Given the description of an element on the screen output the (x, y) to click on. 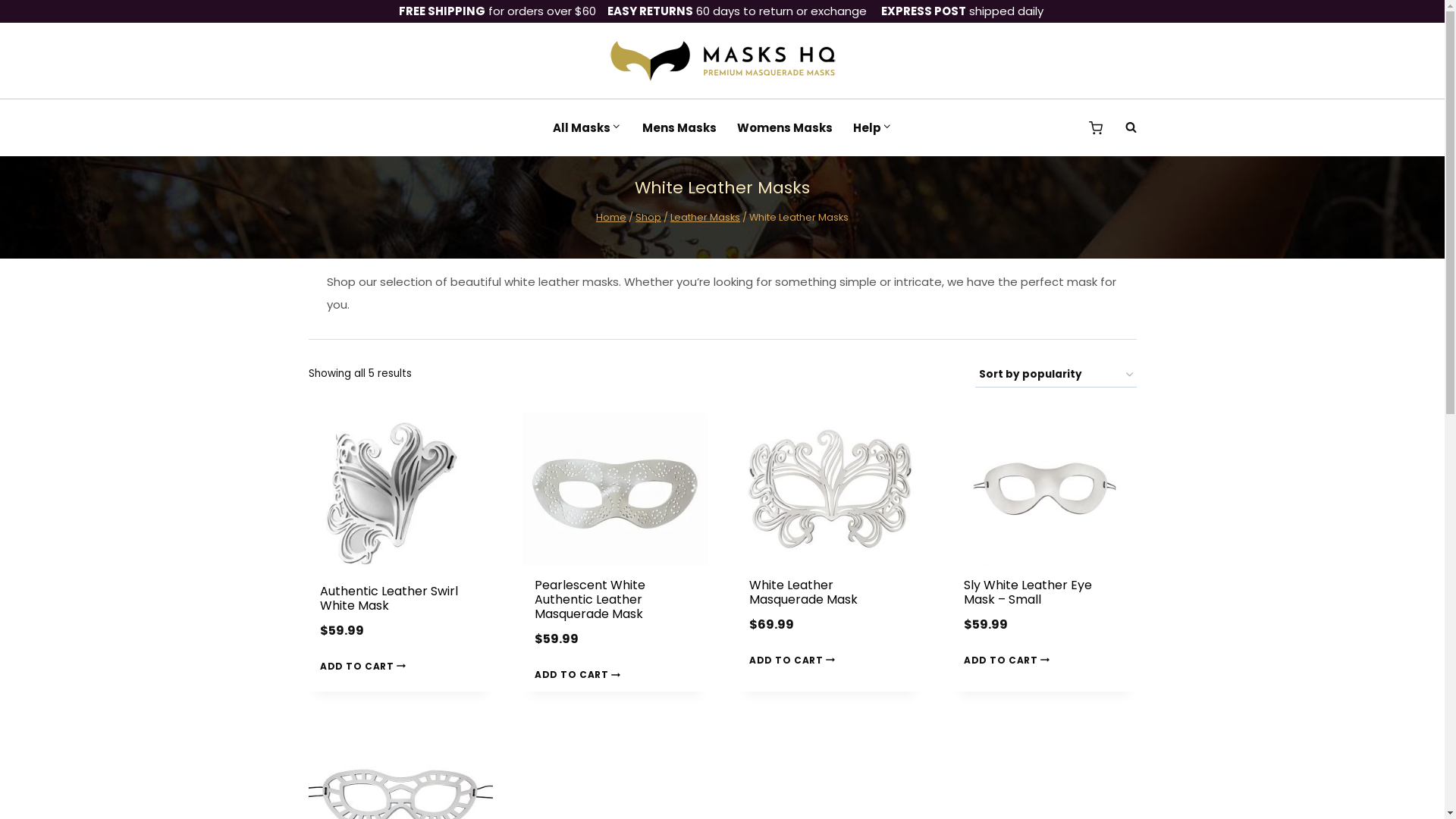
ADD TO CART Element type: text (1008, 660)
Mens Masks Element type: text (678, 127)
Womens Masks Element type: text (784, 127)
Home Element type: text (611, 216)
Leather Masks Element type: text (705, 216)
Help Element type: text (872, 127)
Pearlescent White Authentic Leather Masquerade Mask Element type: text (589, 599)
ADD TO CART Element type: text (794, 660)
ADD TO CART Element type: text (579, 674)
White Leather Masquerade Mask Element type: text (803, 592)
Shop Element type: text (648, 216)
All Masks Element type: text (586, 127)
Authentic Leather Swirl White Mask Element type: text (389, 598)
ADD TO CART Element type: text (365, 666)
